Given the description of an element on the screen output the (x, y) to click on. 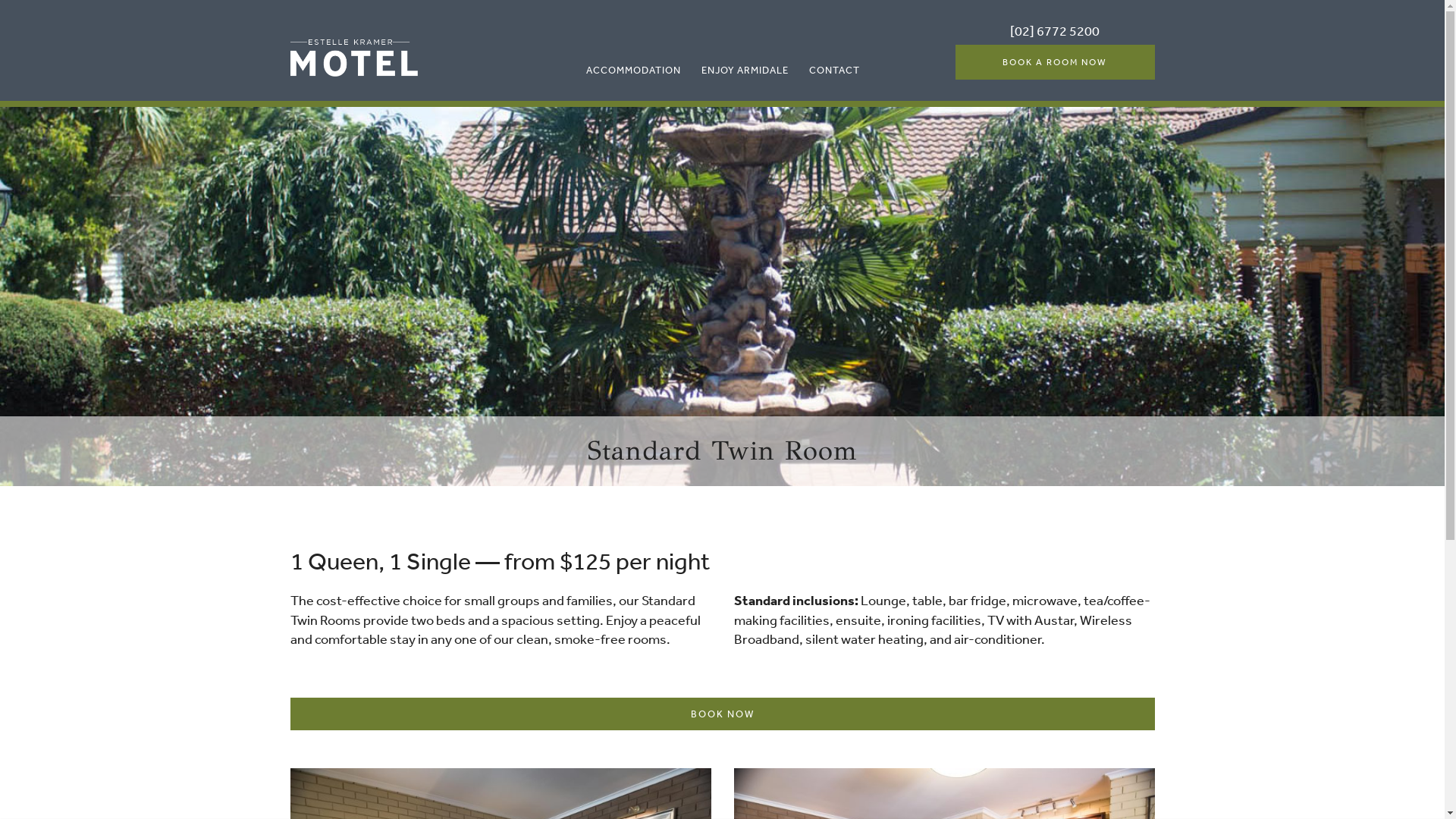
ENJOY ARMIDALE Element type: text (744, 70)
BOOK NOW Element type: text (721, 713)
BOOK A ROOM NOW Element type: text (1054, 61)
ACCOMMODATION Element type: text (633, 70)
CONTACT Element type: text (834, 70)
